Given the description of an element on the screen output the (x, y) to click on. 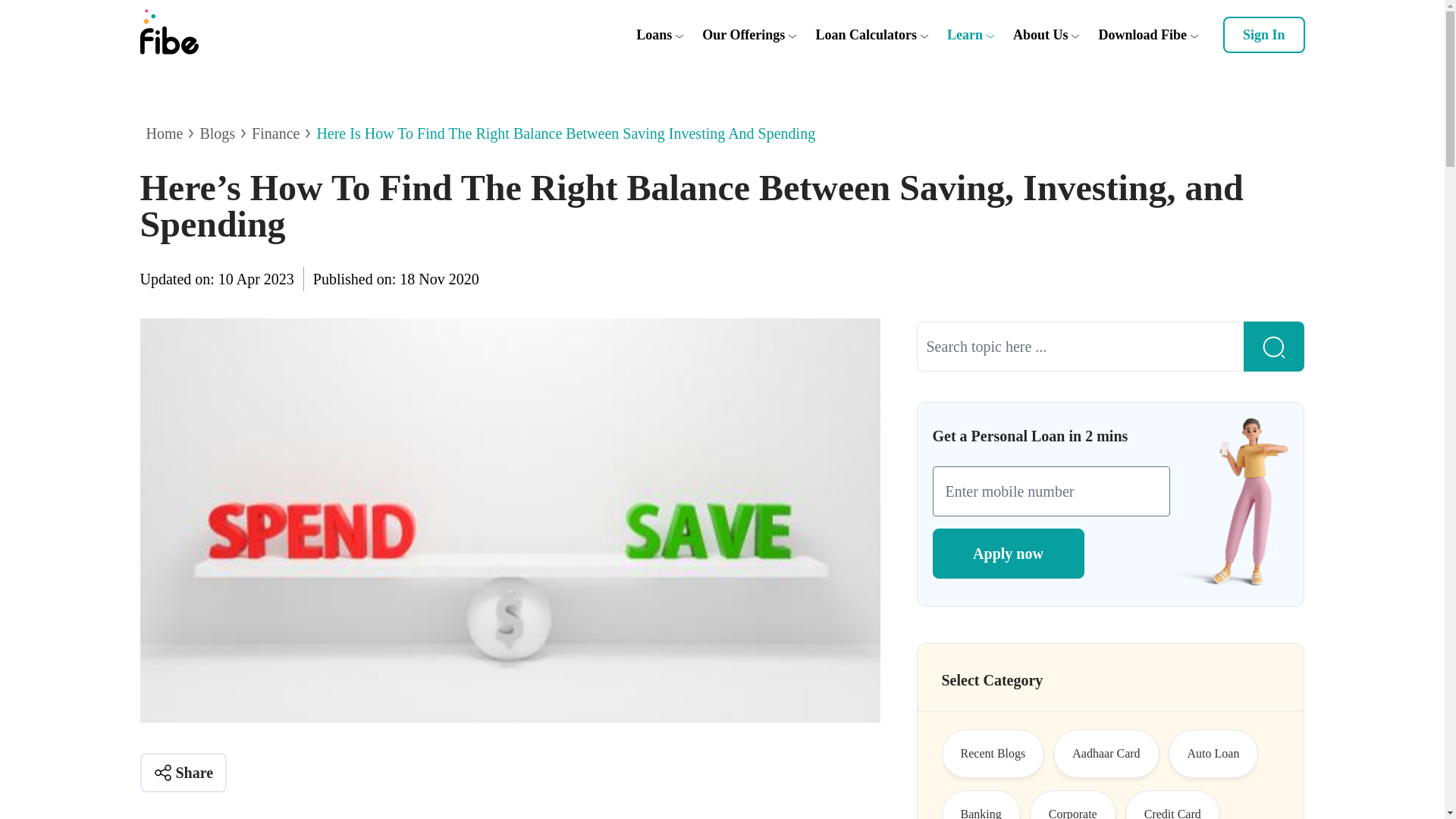
Blogs (217, 133)
Sign In (1263, 34)
About Us (1040, 34)
Finance (275, 133)
Our Offerings (742, 34)
Loan Calculators (866, 34)
Download Fibe (1141, 34)
Home (164, 133)
